Given the description of an element on the screen output the (x, y) to click on. 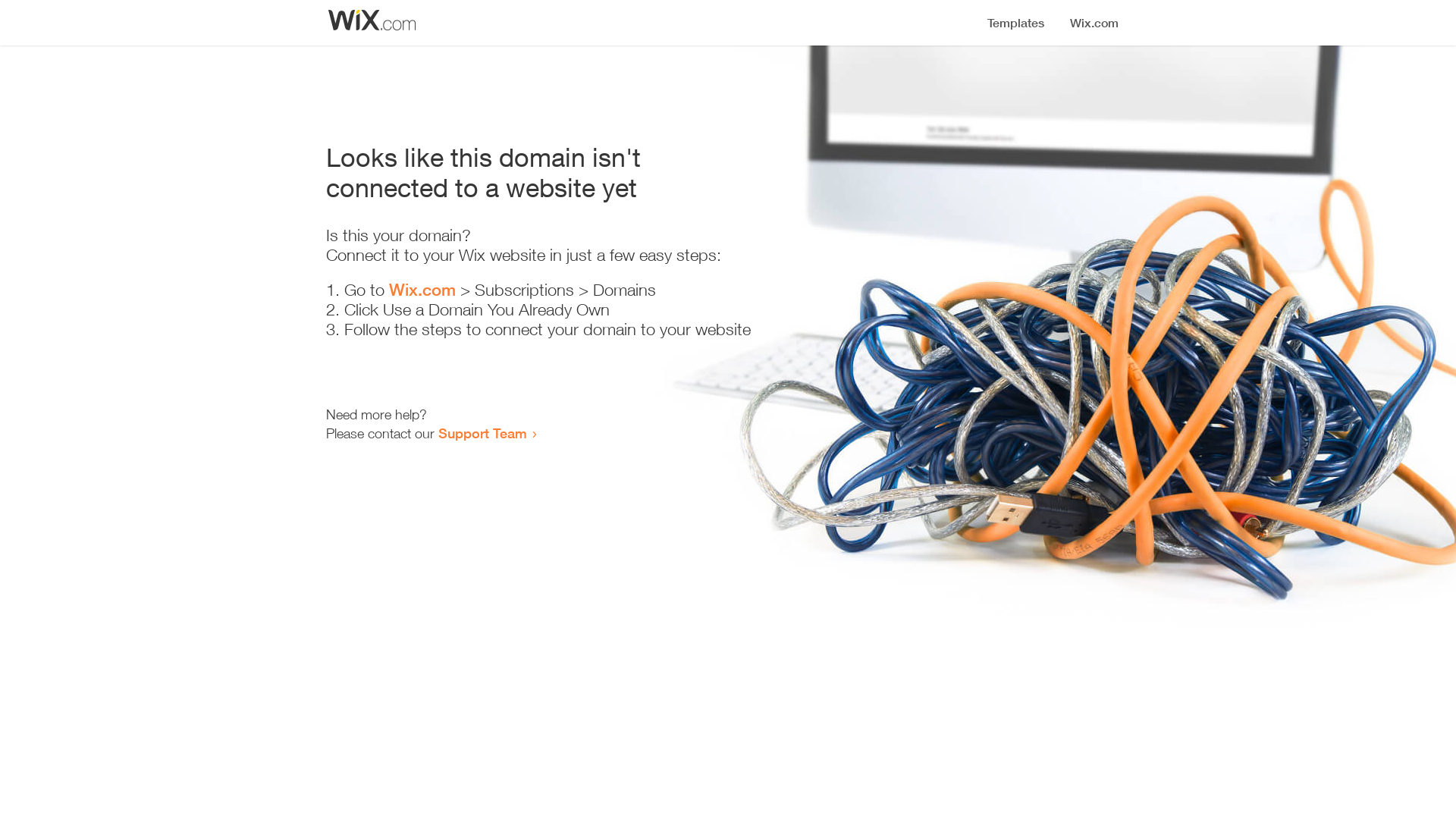
Wix.com Element type: text (422, 289)
Support Team Element type: text (482, 432)
